Given the description of an element on the screen output the (x, y) to click on. 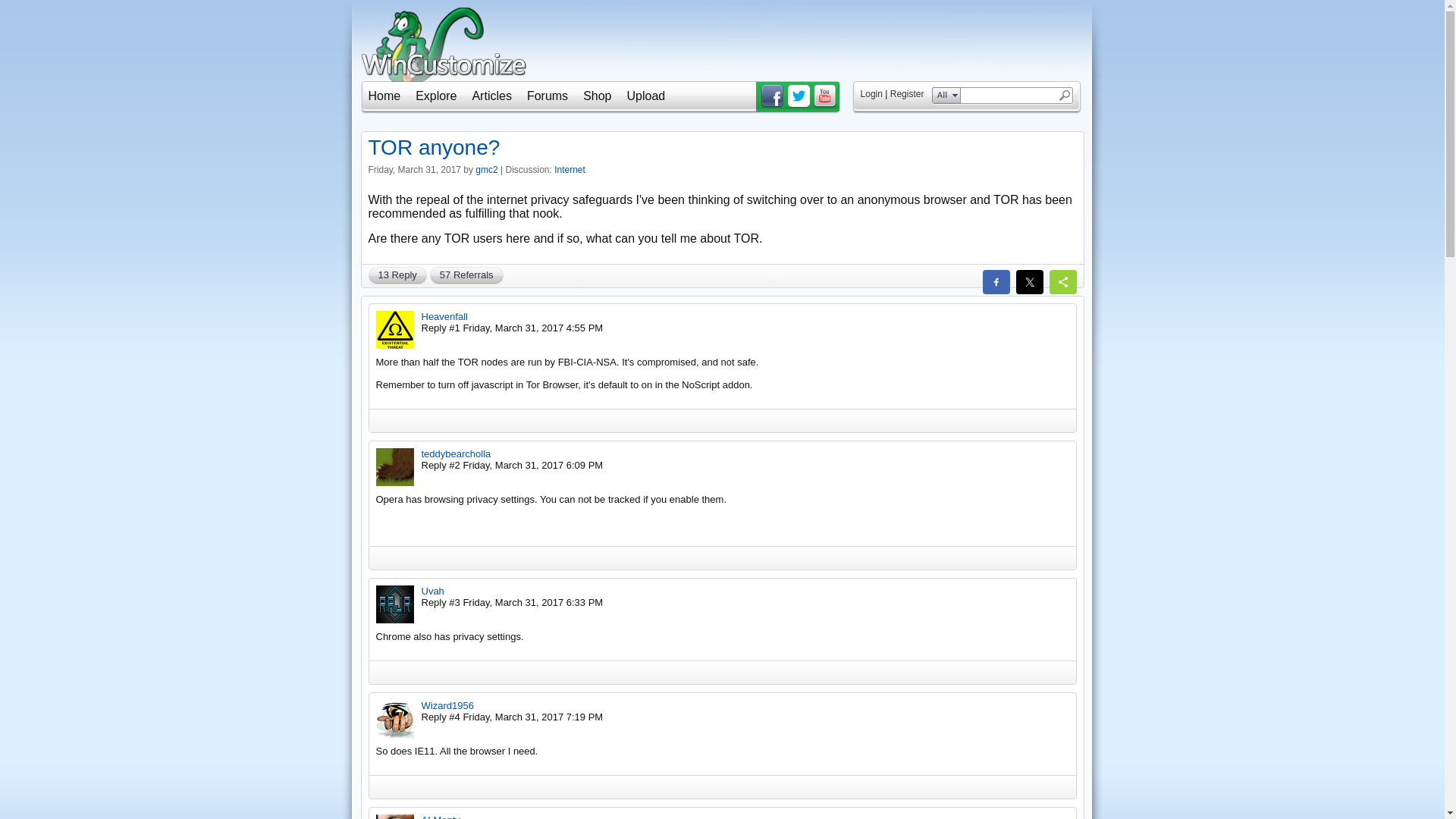
Replies (397, 275)
Referrals (466, 275)
